Given the description of an element on the screen output the (x, y) to click on. 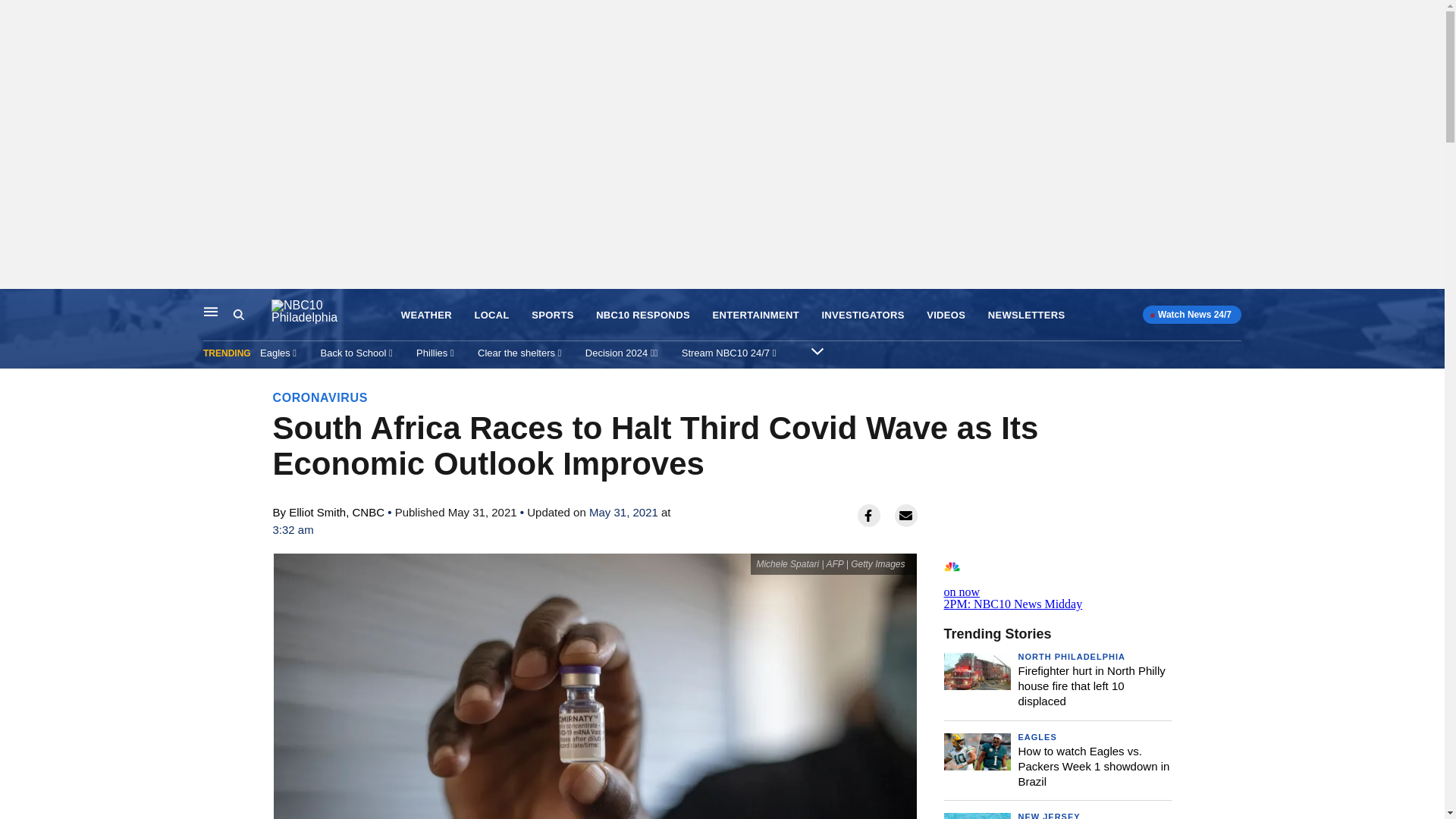
ENTERTAINMENT (755, 315)
NEWSLETTERS (1026, 315)
INVESTIGATORS (862, 315)
Skip to content (16, 304)
LOCAL (491, 315)
Main Navigation (1056, 581)
NBC10 RESPONDS (210, 311)
Expand (642, 315)
Search (817, 350)
